Given the description of an element on the screen output the (x, y) to click on. 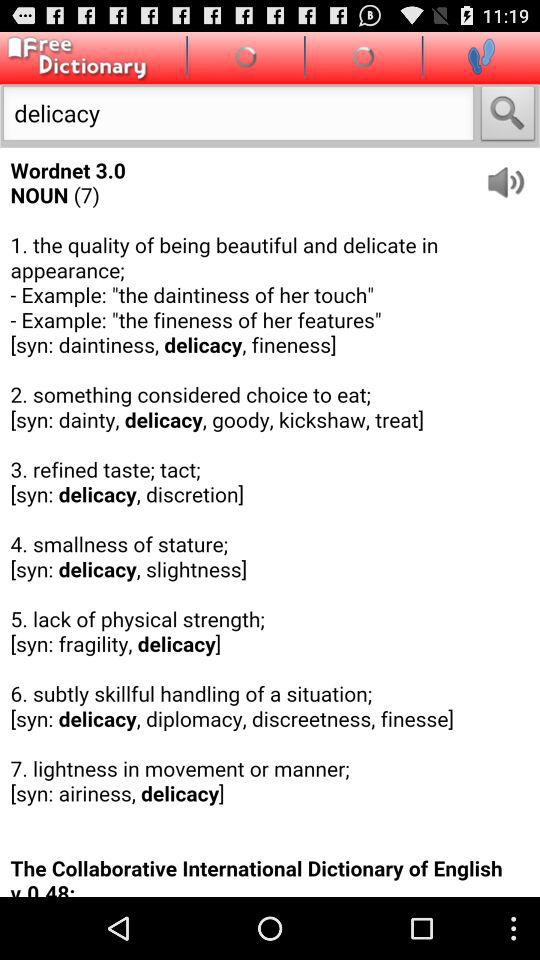
search for word (507, 115)
